Given the description of an element on the screen output the (x, y) to click on. 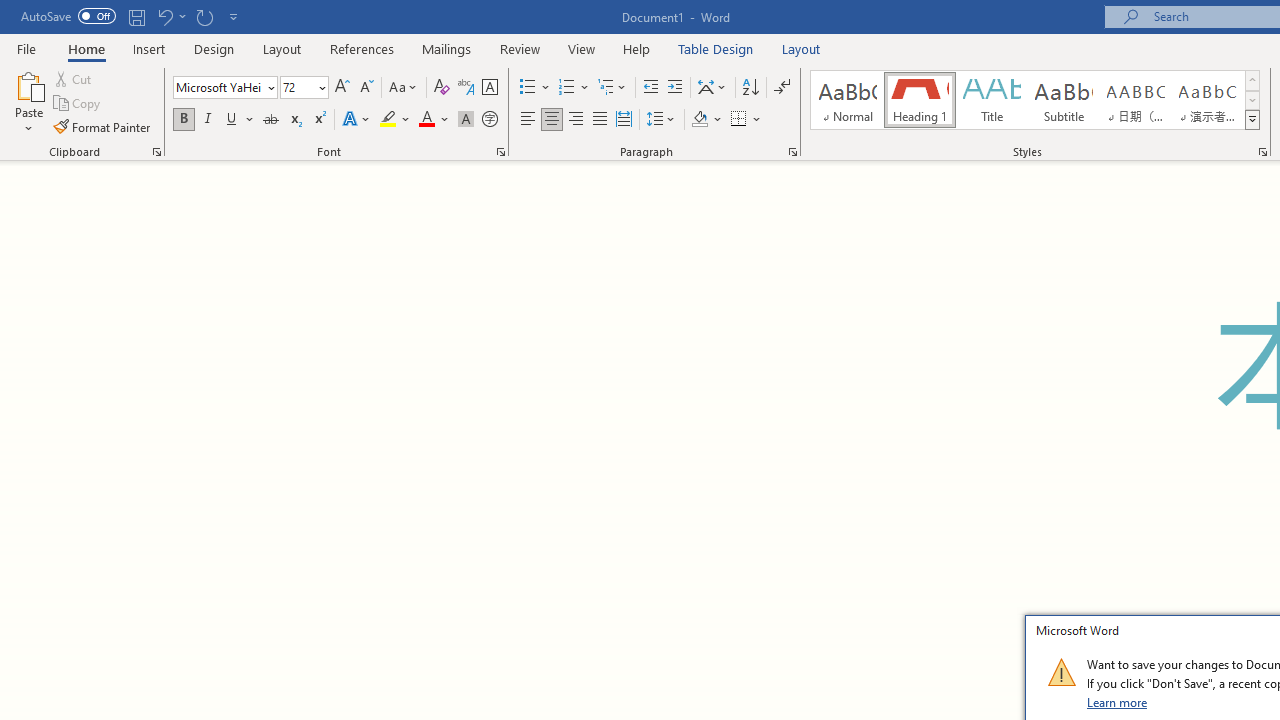
Learn more (1118, 702)
